Given the description of an element on the screen output the (x, y) to click on. 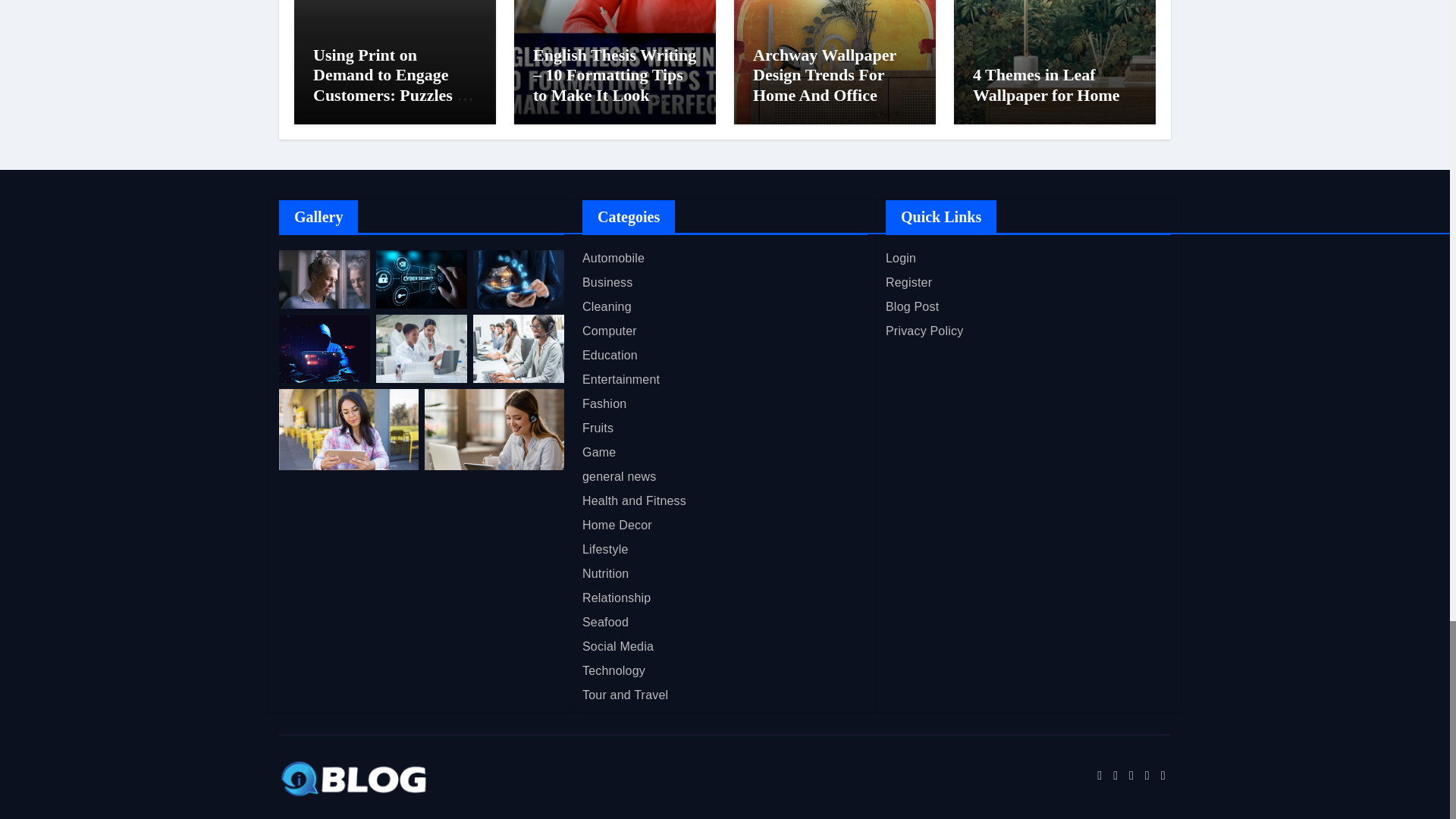
Permalink to: 4 Themes in Leaf Wallpaper for Home (1045, 84)
